Given the description of an element on the screen output the (x, y) to click on. 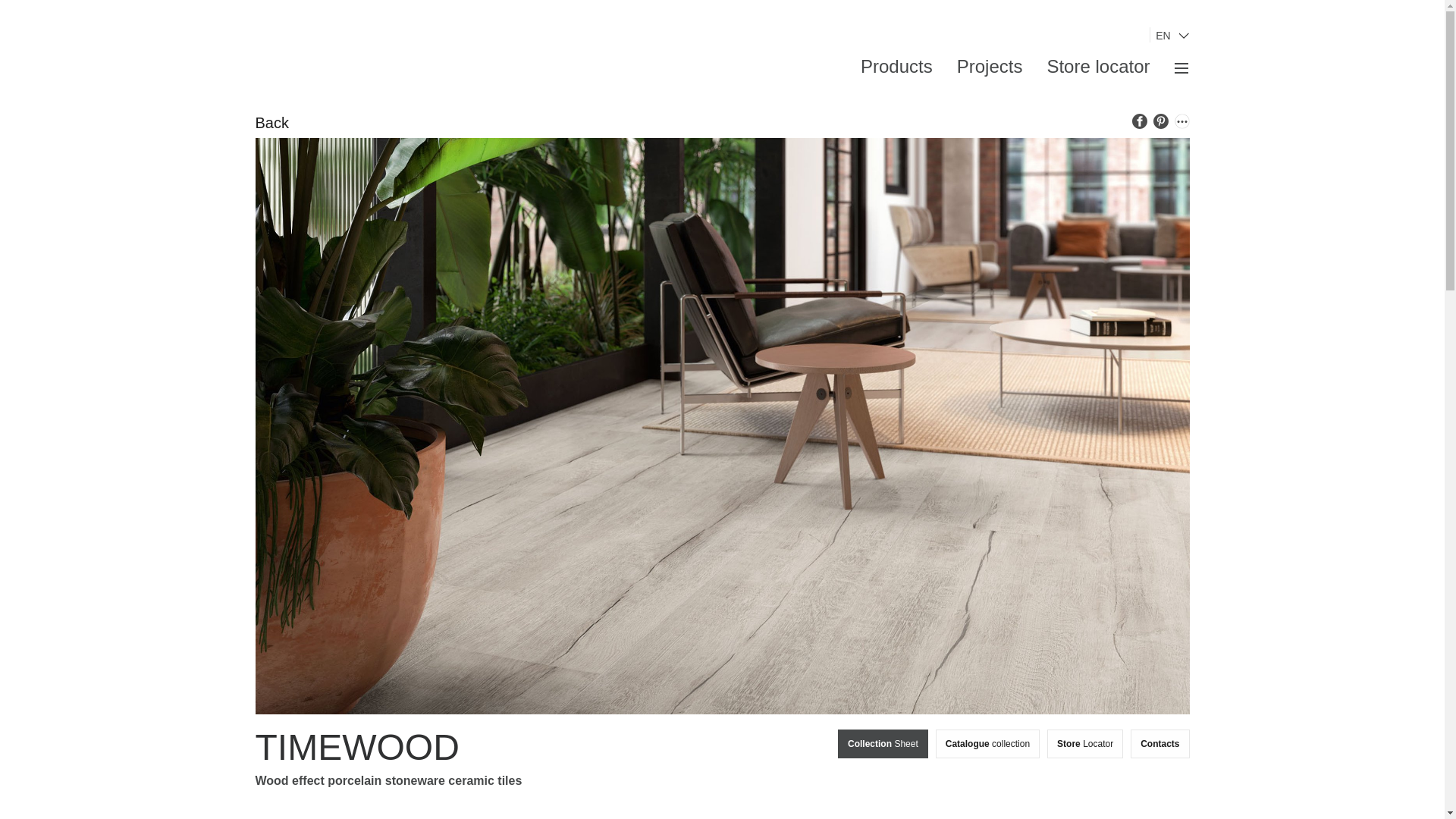
Products (896, 66)
Store locator (1098, 66)
Projects (989, 66)
EN (1169, 35)
